Given the description of an element on the screen output the (x, y) to click on. 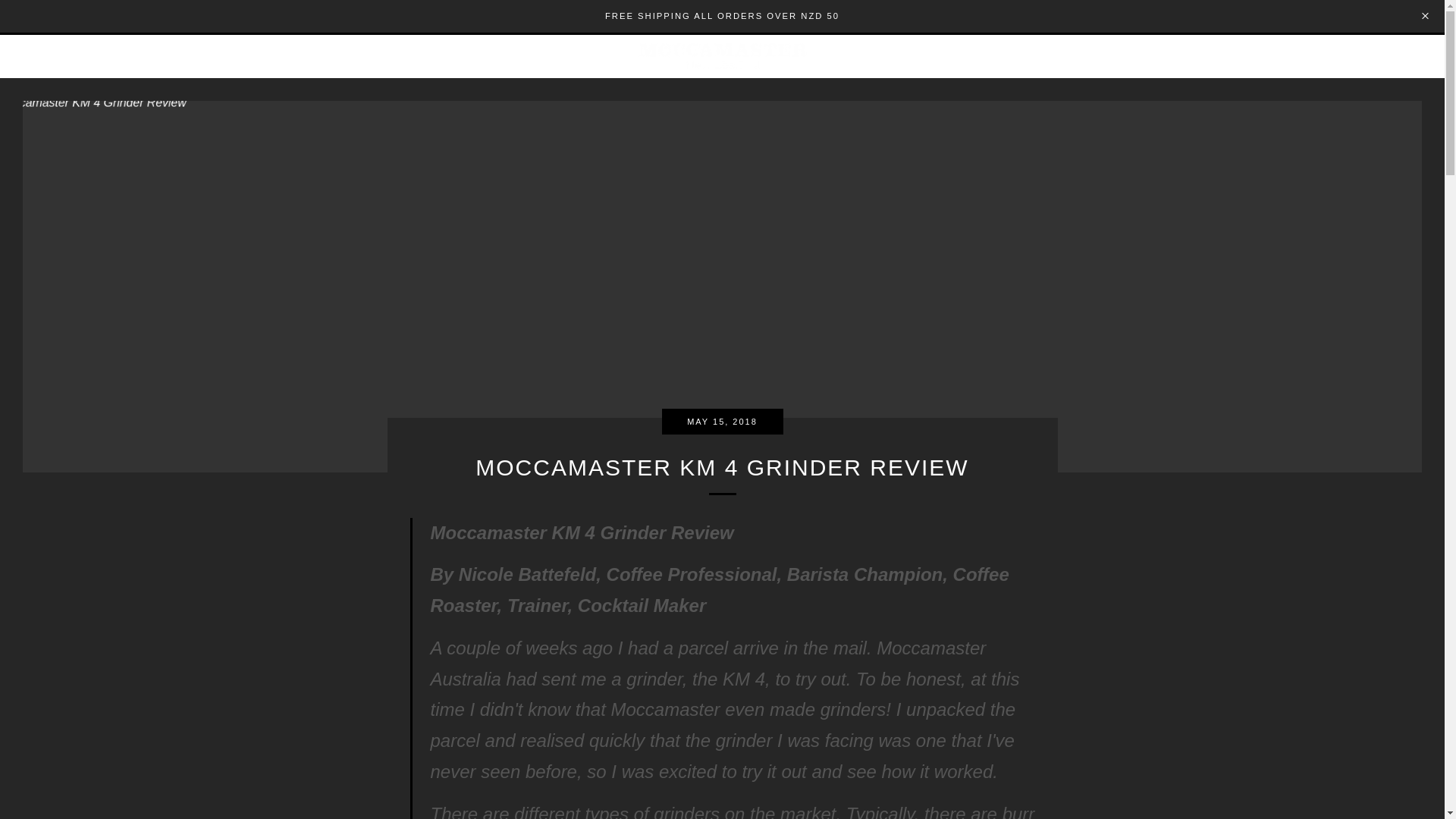
SHOP (89, 55)
NEW ZEALAND (722, 54)
HOME (38, 55)
